Given the description of an element on the screen output the (x, y) to click on. 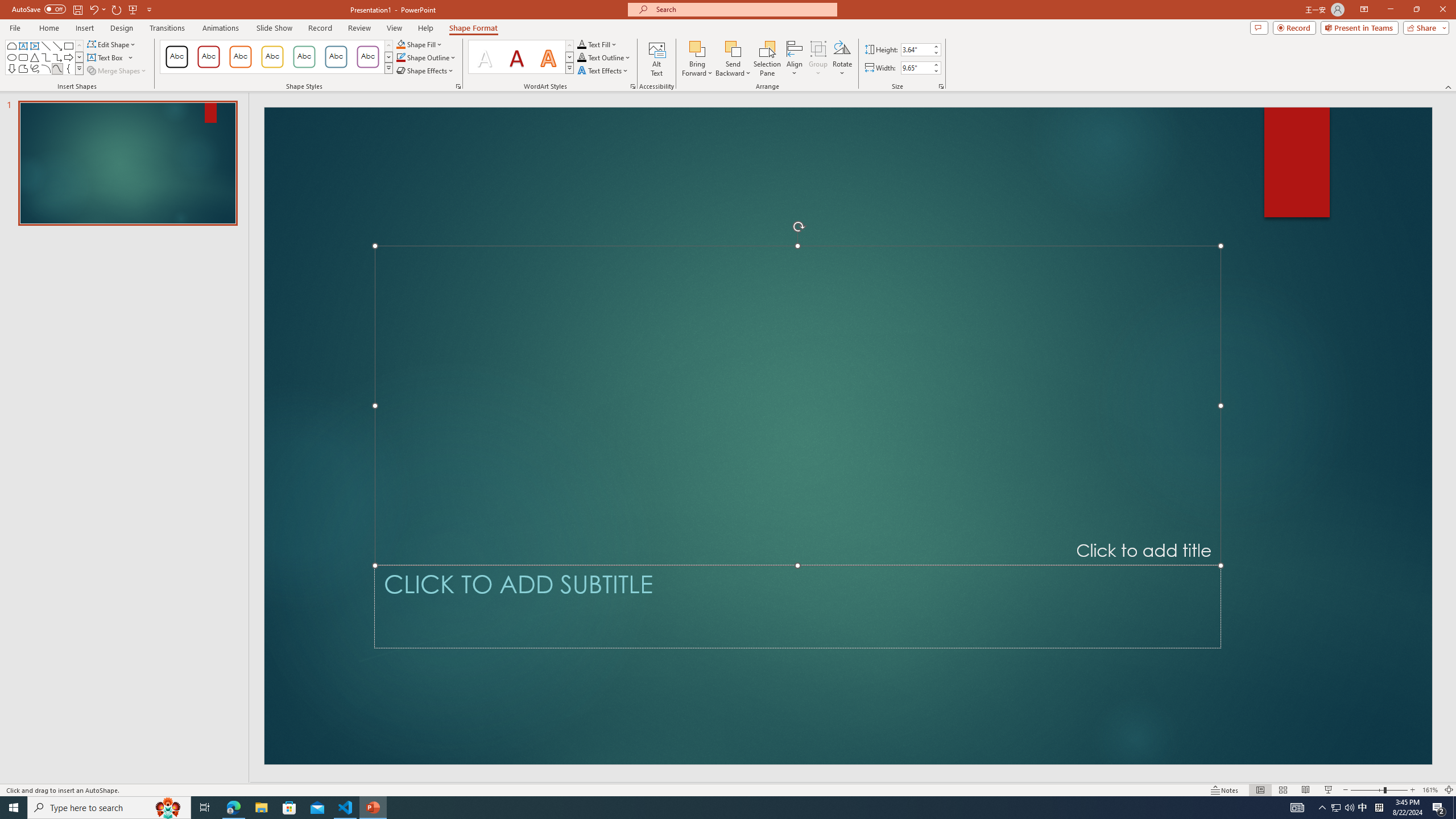
Zoom 161% (1430, 790)
Arrow: Right (68, 57)
Slide Sorter (1282, 790)
Colored Outline - Orange, Accent 2 (240, 56)
From Beginning (133, 9)
Row Down (568, 56)
Close (1442, 9)
Merge Shapes (117, 69)
Shape Effects (425, 69)
AutomationID: TextStylesGallery (521, 56)
Shape Height (915, 49)
Slide Show (273, 28)
Alt Text (656, 58)
Line (46, 45)
File Tab (15, 27)
